Given the description of an element on the screen output the (x, y) to click on. 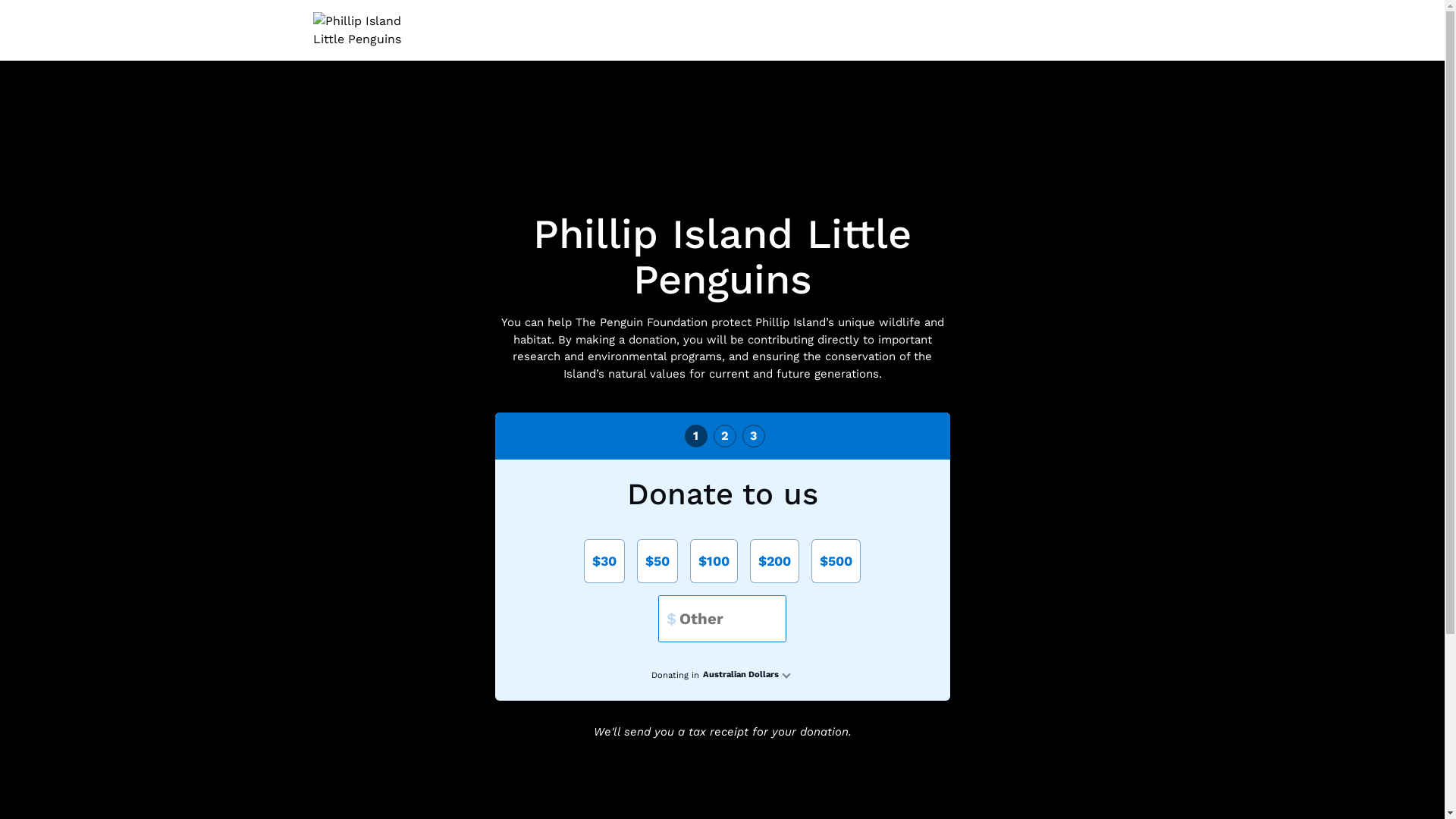
$200 Element type: text (774, 561)
$500 Element type: text (835, 561)
$100 Element type: text (713, 561)
$30 Element type: text (603, 561)
$50 Element type: text (657, 561)
